Given the description of an element on the screen output the (x, y) to click on. 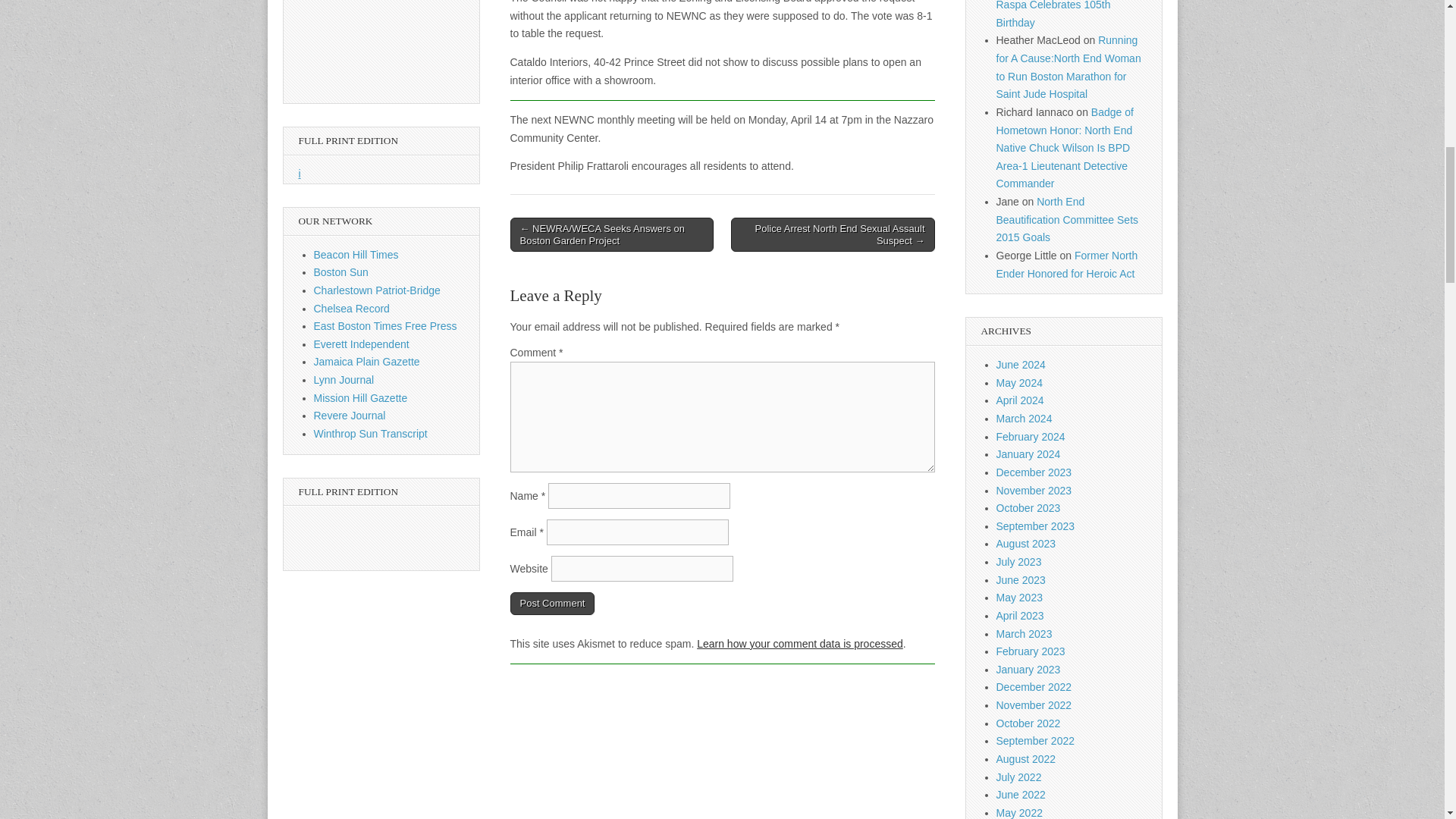
Boston Sun (341, 272)
Lynn Journal (344, 379)
Chelsea Record (352, 308)
Charlestown Patriot-Bridge (377, 290)
Beacon Hill Times (356, 254)
Post Comment (551, 603)
Jamaica Plain Gazette (367, 361)
Learn how your comment data is processed (799, 644)
Everett Independent (361, 344)
East Boston Times Free Press (385, 326)
Post Comment (551, 603)
